Given the description of an element on the screen output the (x, y) to click on. 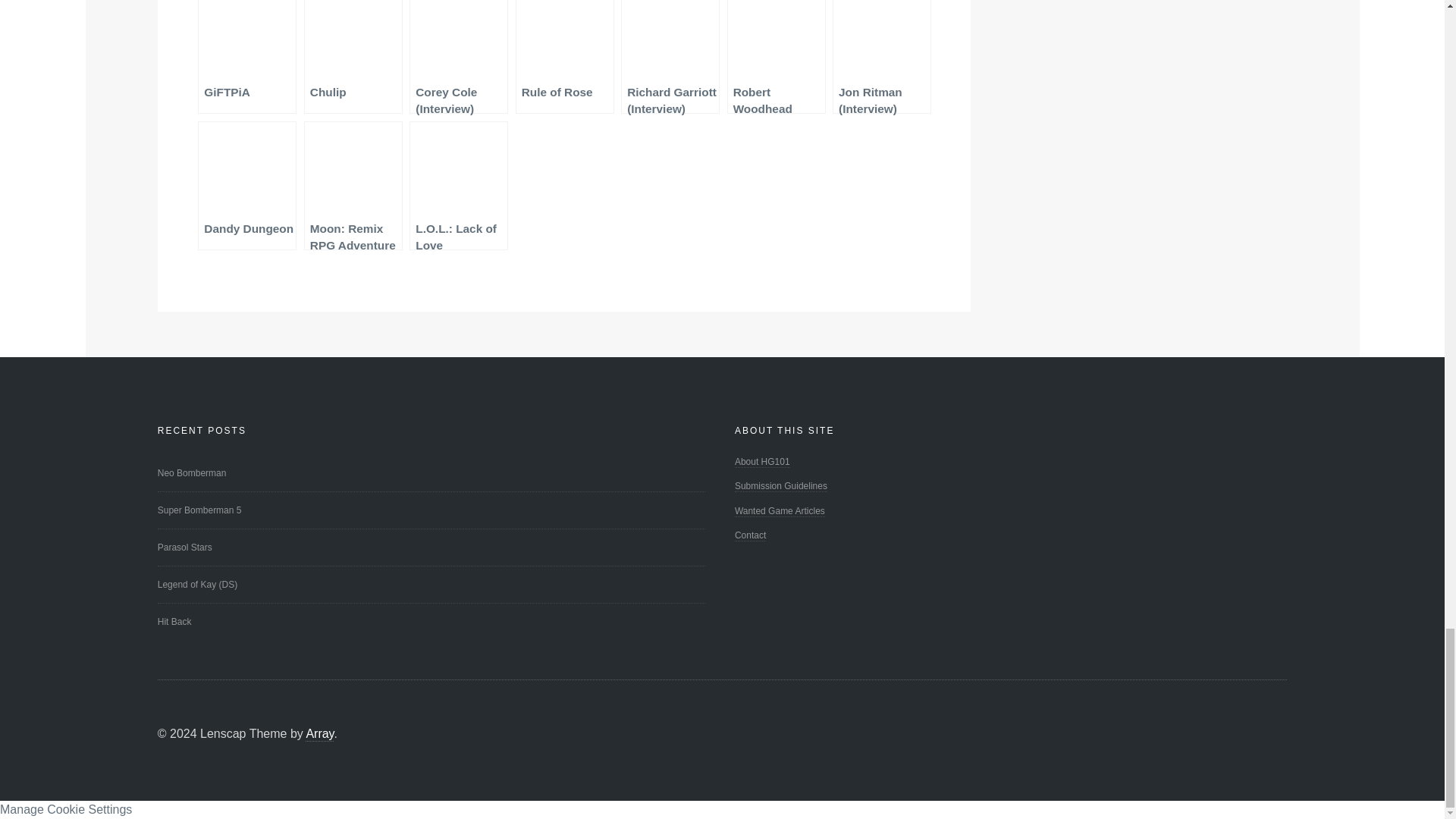
Super Bomberman 5 (430, 509)
Submission Guidelines (781, 486)
Contact (750, 535)
Parasol Stars (430, 547)
Neo Bomberman (430, 472)
About HG101 (762, 461)
Wanted Game Articles (780, 511)
Hit Back (430, 621)
